Given the description of an element on the screen output the (x, y) to click on. 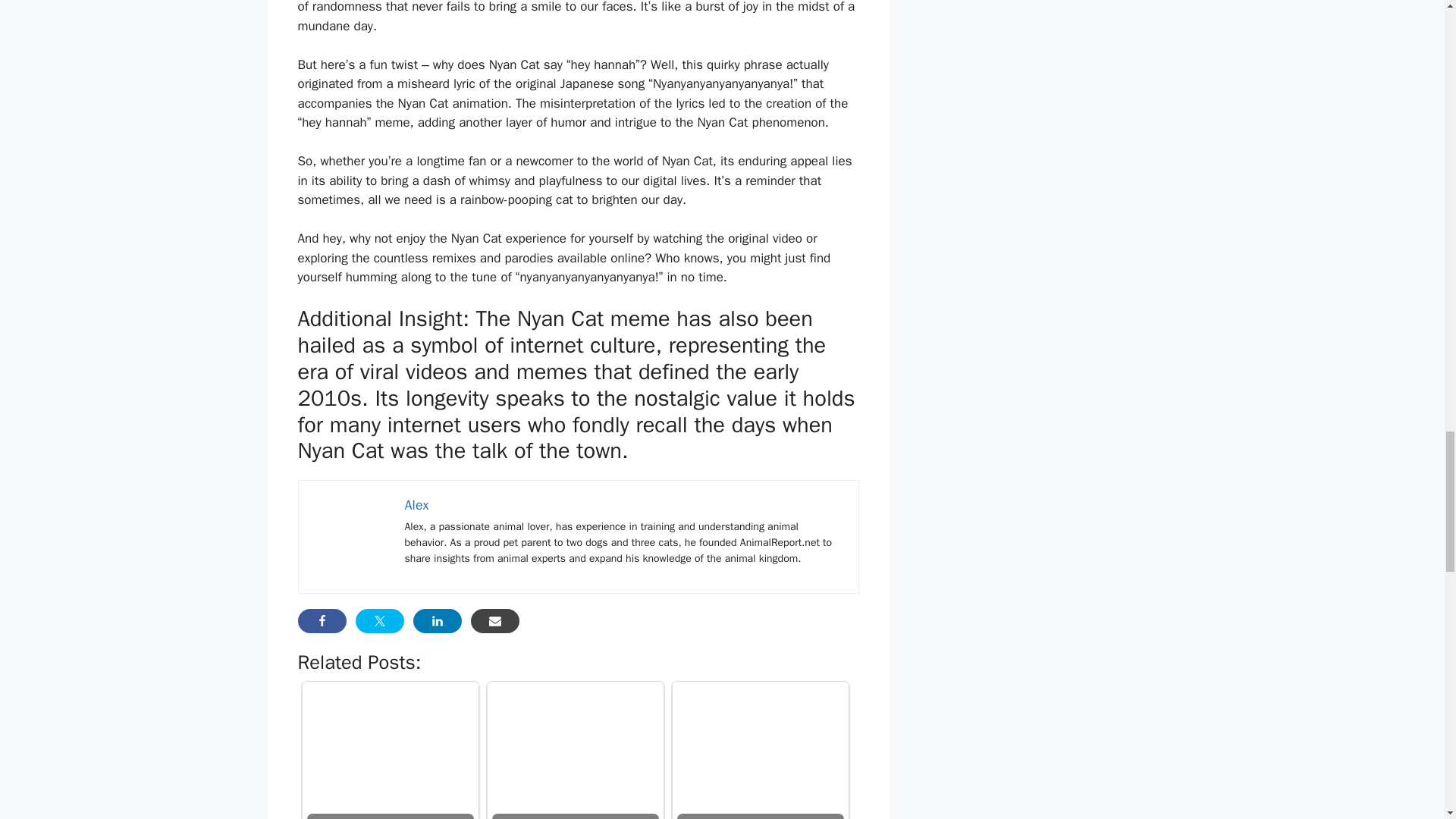
Share via Email (494, 621)
Alex (416, 504)
Share on LinkedIn (436, 621)
Share on Facebook (321, 621)
Are Dollar Tree Dog Treats Safe for Your Pet? (760, 741)
Share on Twitter (379, 621)
